Given the description of an element on the screen output the (x, y) to click on. 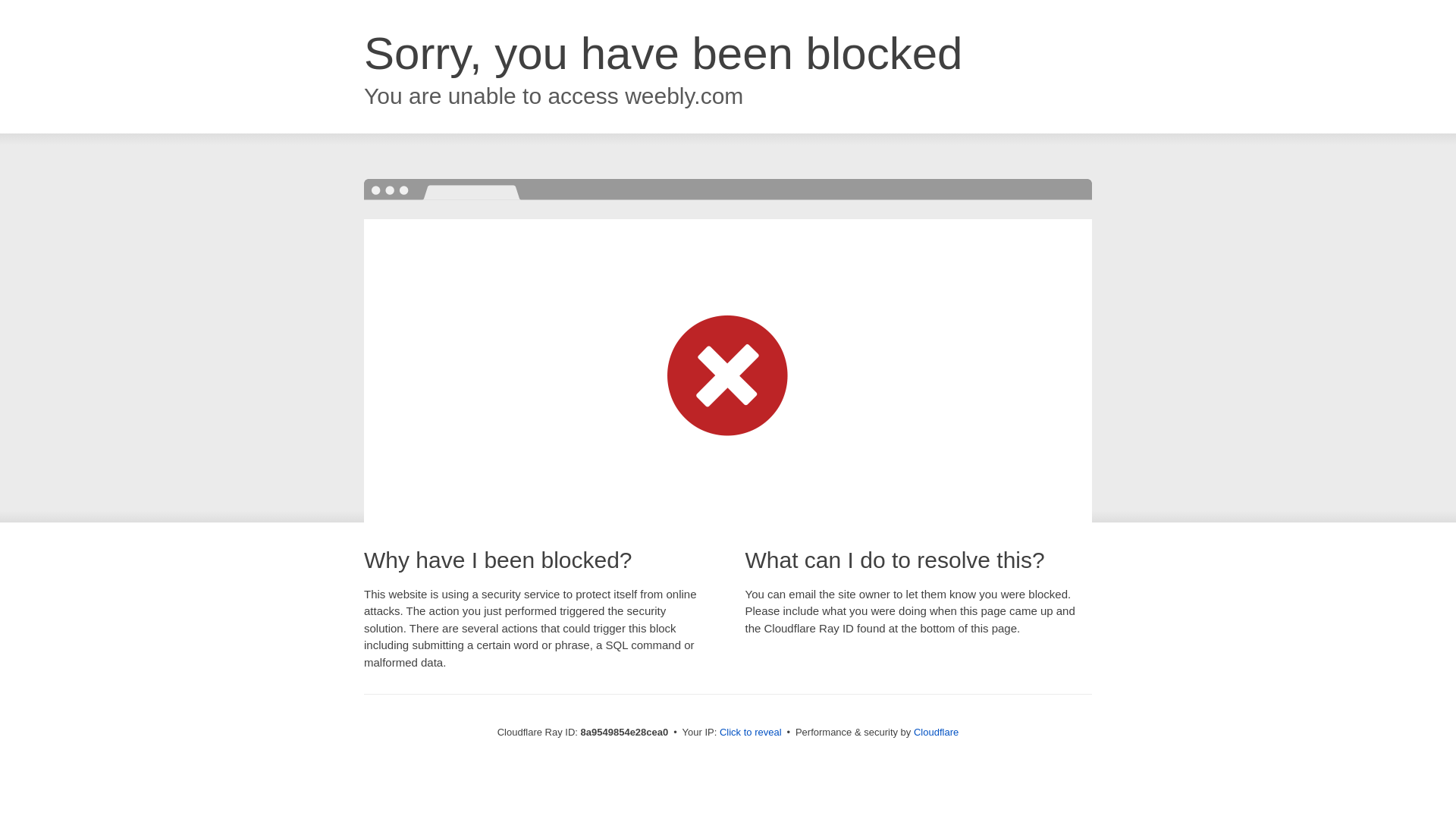
Click to reveal (750, 732)
Cloudflare (936, 731)
